Given the description of an element on the screen output the (x, y) to click on. 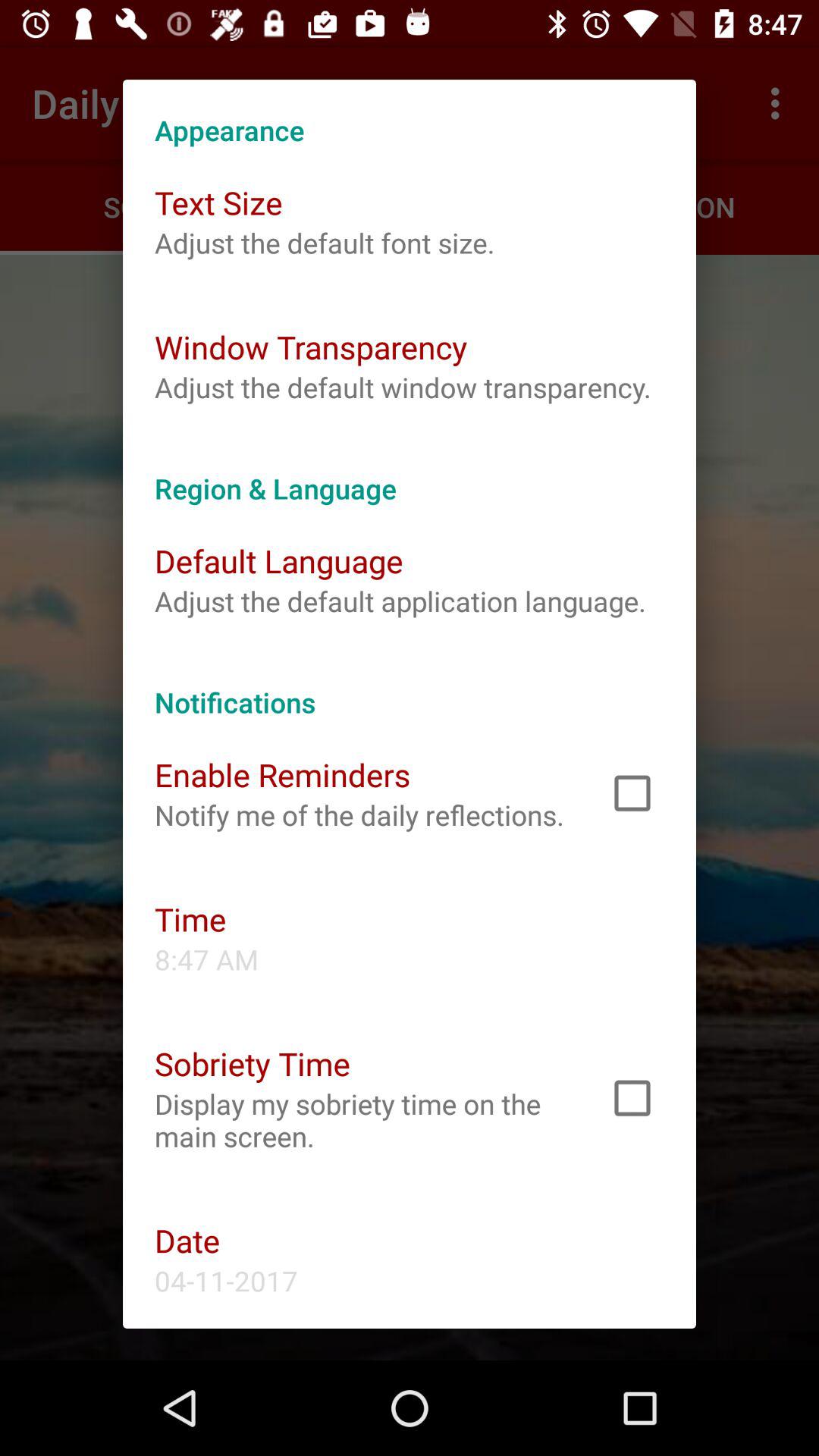
tap app at the bottom (361, 1120)
